Given the description of an element on the screen output the (x, y) to click on. 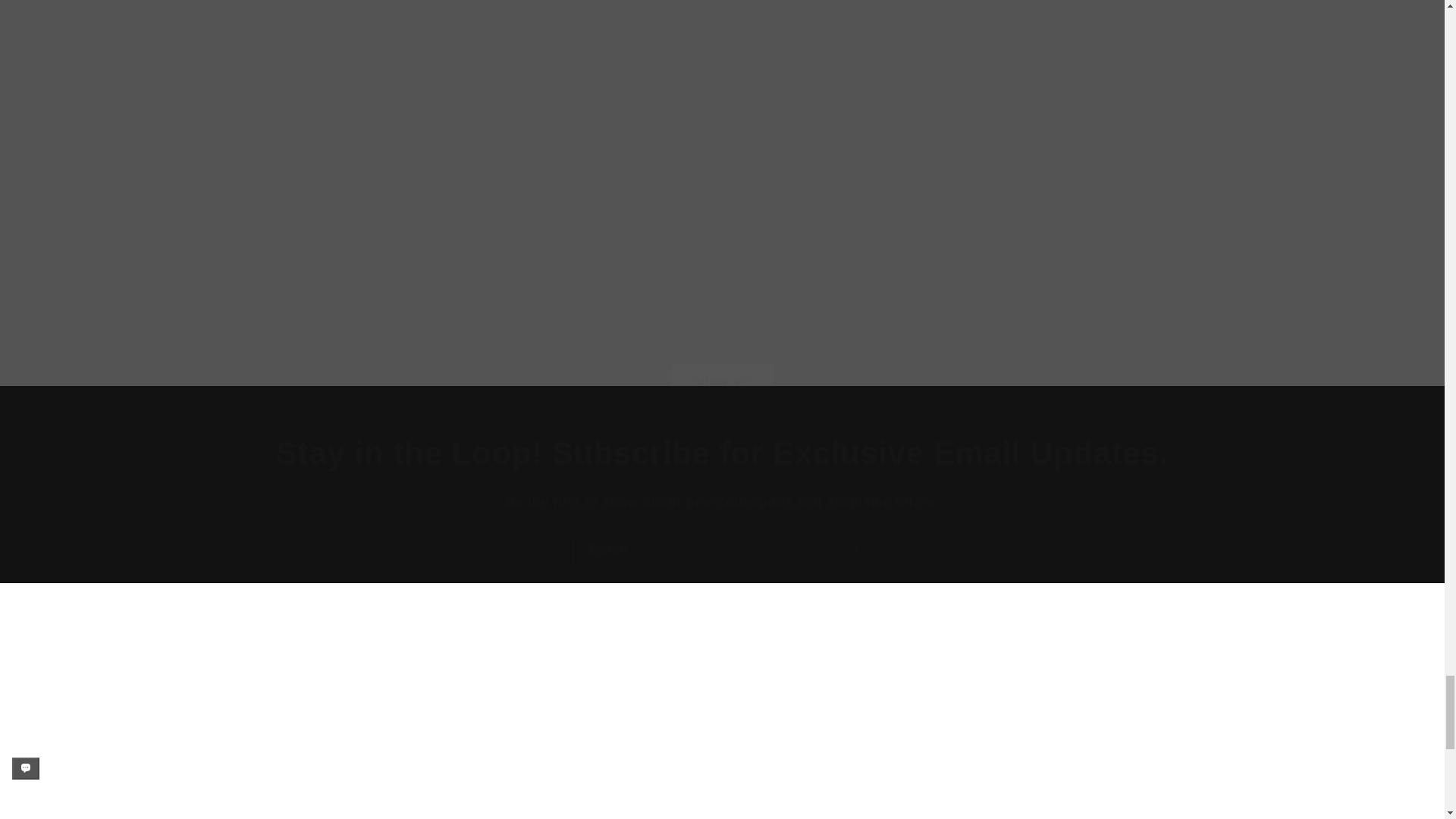
Stay in the Loop! Subscribe for Exclusive Email Updates. (722, 454)
View all (721, 361)
Email (722, 550)
